Given the description of an element on the screen output the (x, y) to click on. 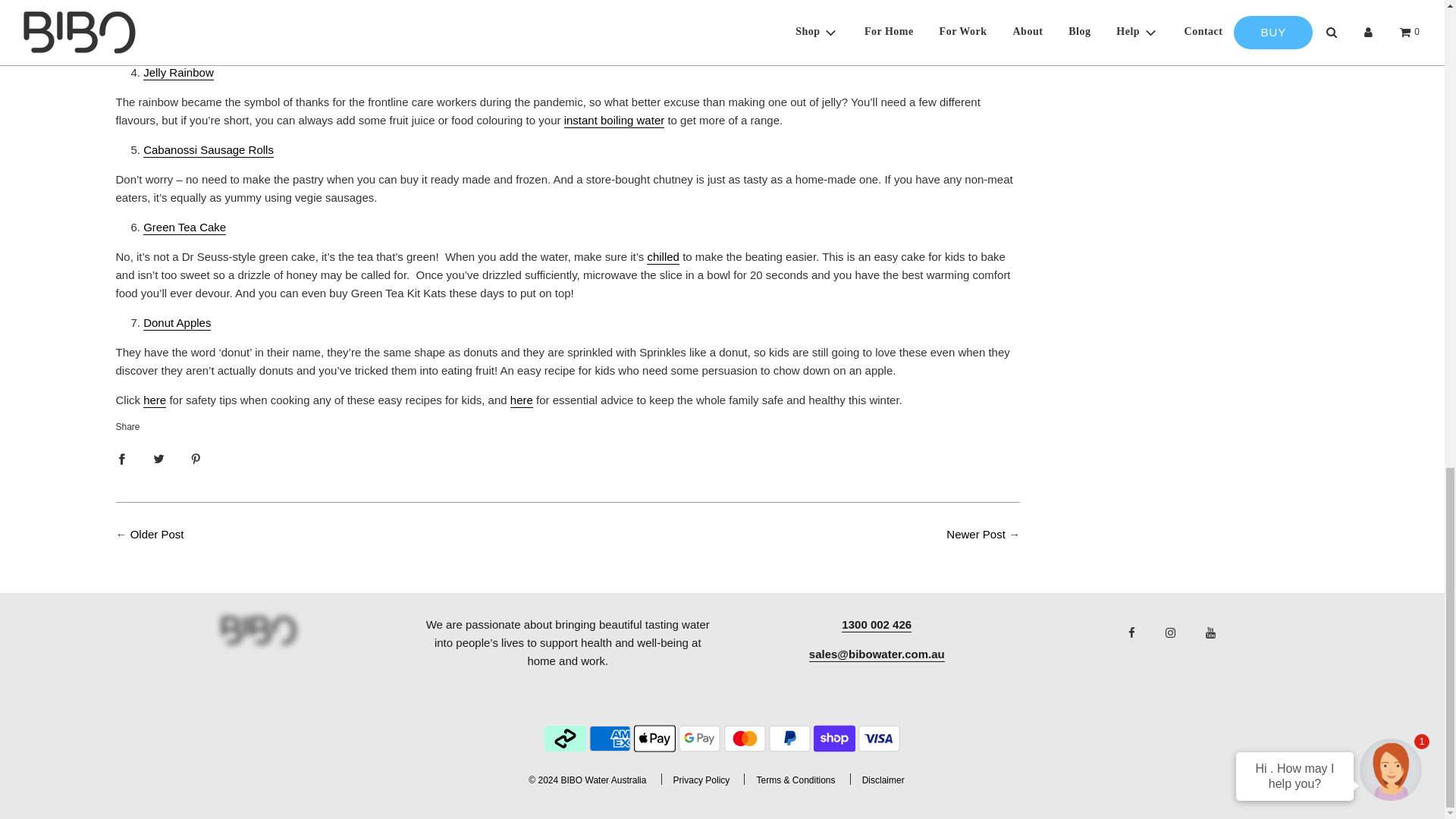
Apple Pay (654, 738)
Shop Pay (834, 738)
Call Us (876, 625)
Afterpay (565, 738)
Mastercard (744, 738)
American Express (609, 738)
Visa (879, 738)
Google Pay (699, 738)
PayPal (789, 738)
